Given the description of an element on the screen output the (x, y) to click on. 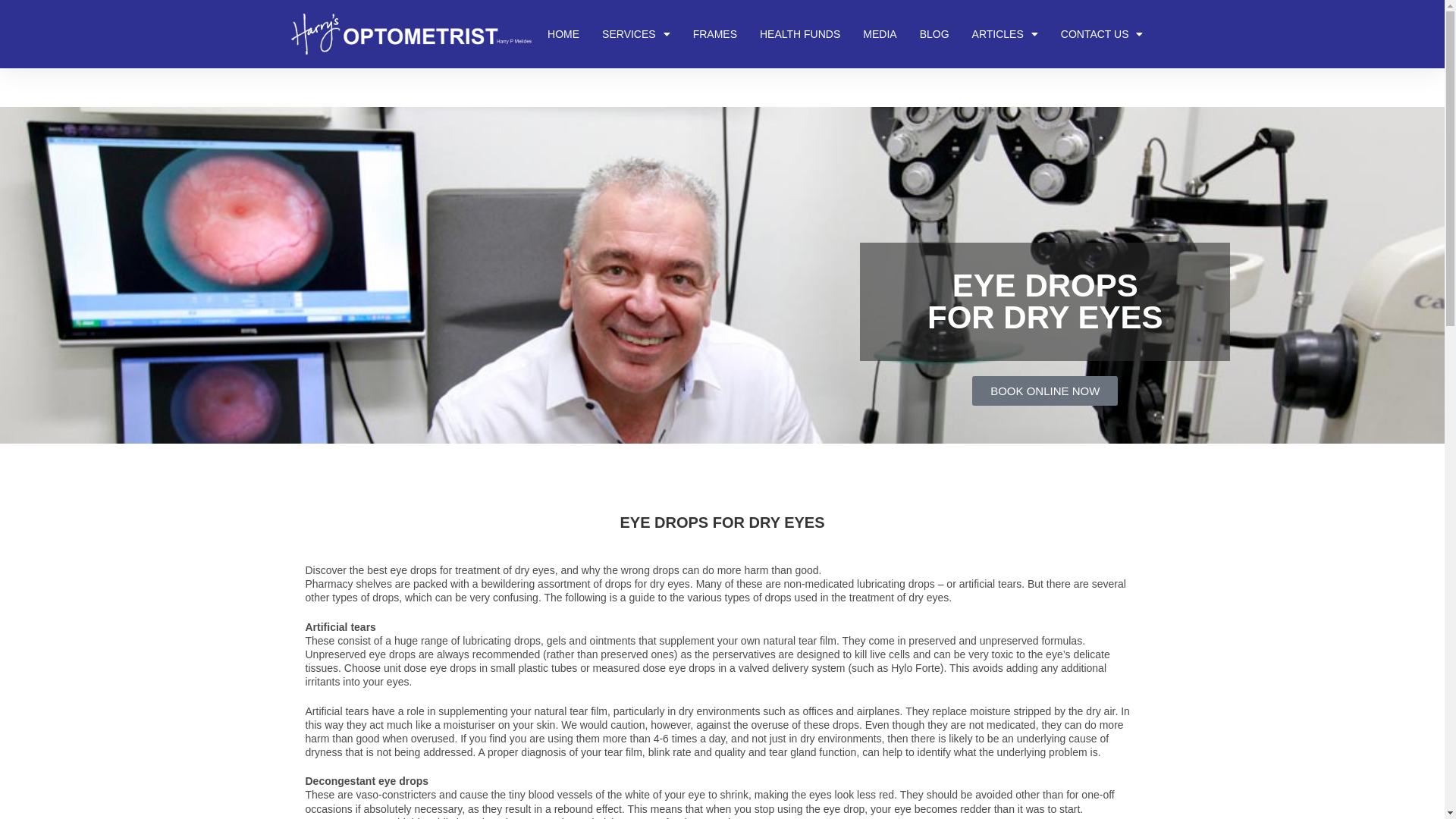
CONTACT US Element type: text (1101, 34)
ARTICLES Element type: text (1004, 34)
FRAMES Element type: text (714, 34)
HEALTH FUNDS Element type: text (799, 34)
MEDIA Element type: text (879, 34)
SERVICES Element type: text (635, 34)
HOME Element type: text (563, 34)
BOOK ONLINE NOW Element type: text (1044, 390)
BLOG Element type: text (934, 34)
